Given the description of an element on the screen output the (x, y) to click on. 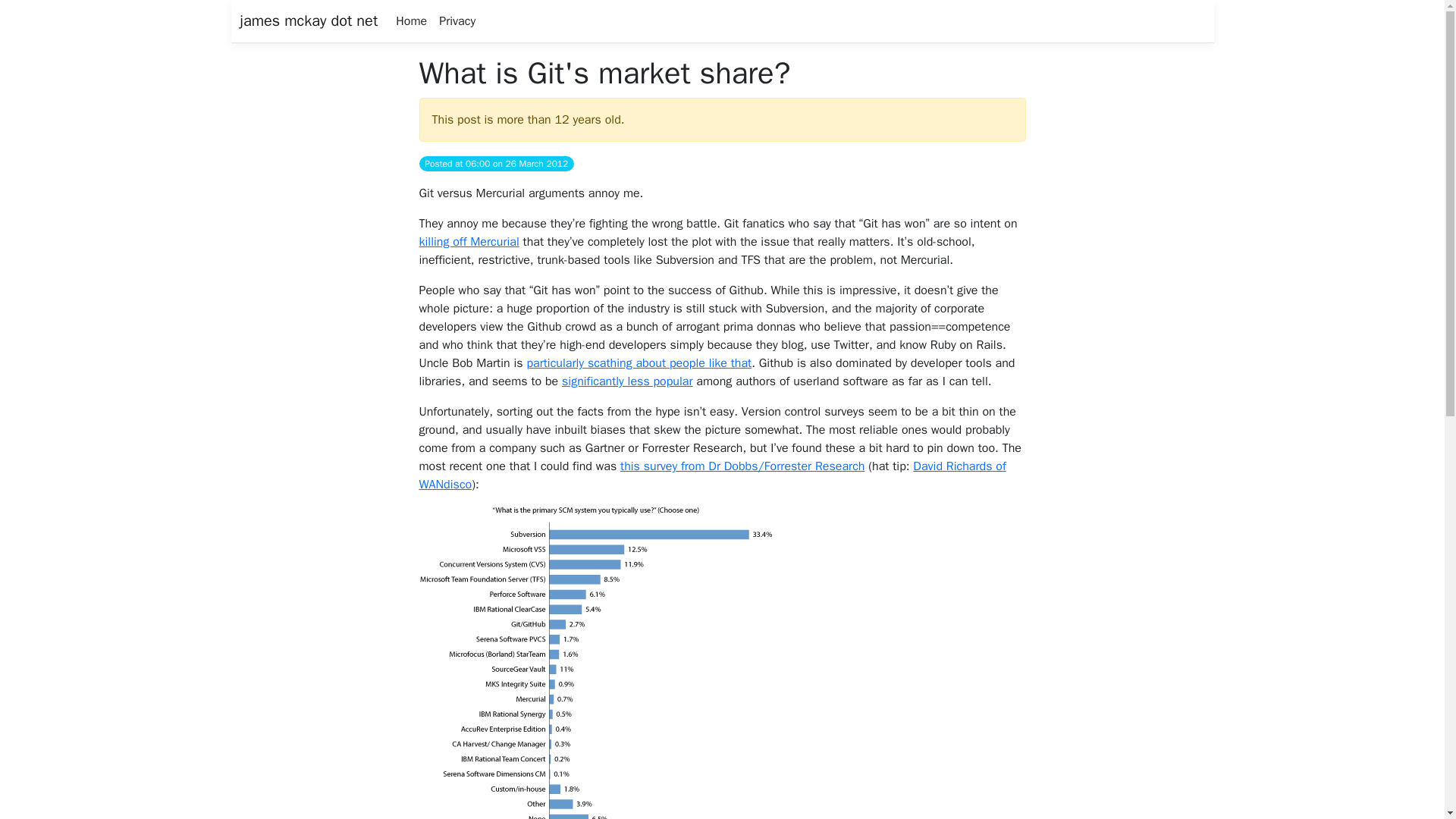
james mckay dot net (308, 20)
David Richards of WANdisco (712, 475)
killing off Mercurial (468, 241)
Home (411, 20)
particularly scathing about people like that (638, 363)
Privacy (456, 20)
significantly less popular (627, 381)
